Given the description of an element on the screen output the (x, y) to click on. 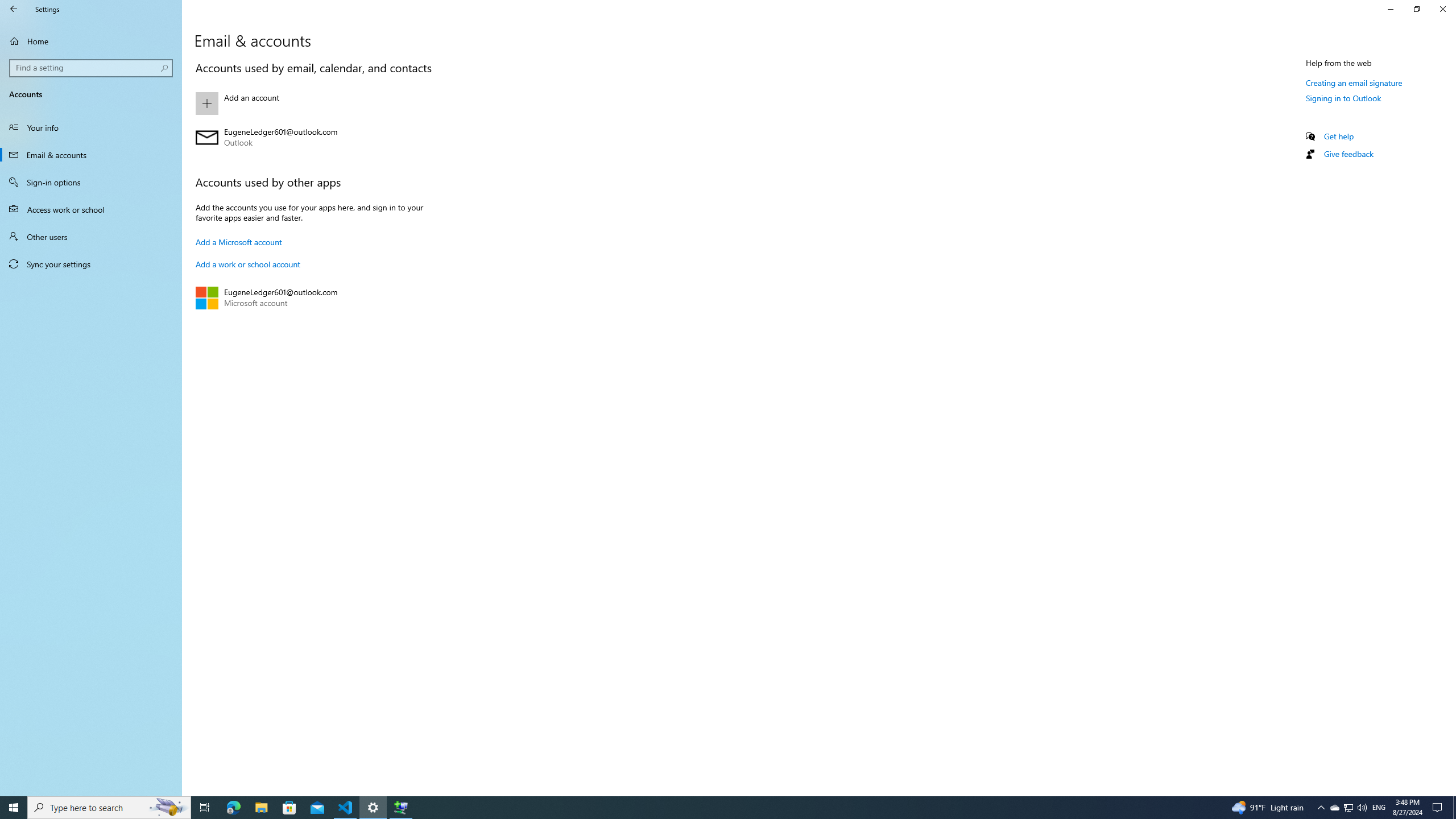
Extensible Wizards Host Process - 1 running window (400, 807)
Add a work or school account (248, 263)
Settings - 1 running window (373, 807)
Close Settings (1442, 9)
Minimize Settings (1390, 9)
